Given the description of an element on the screen output the (x, y) to click on. 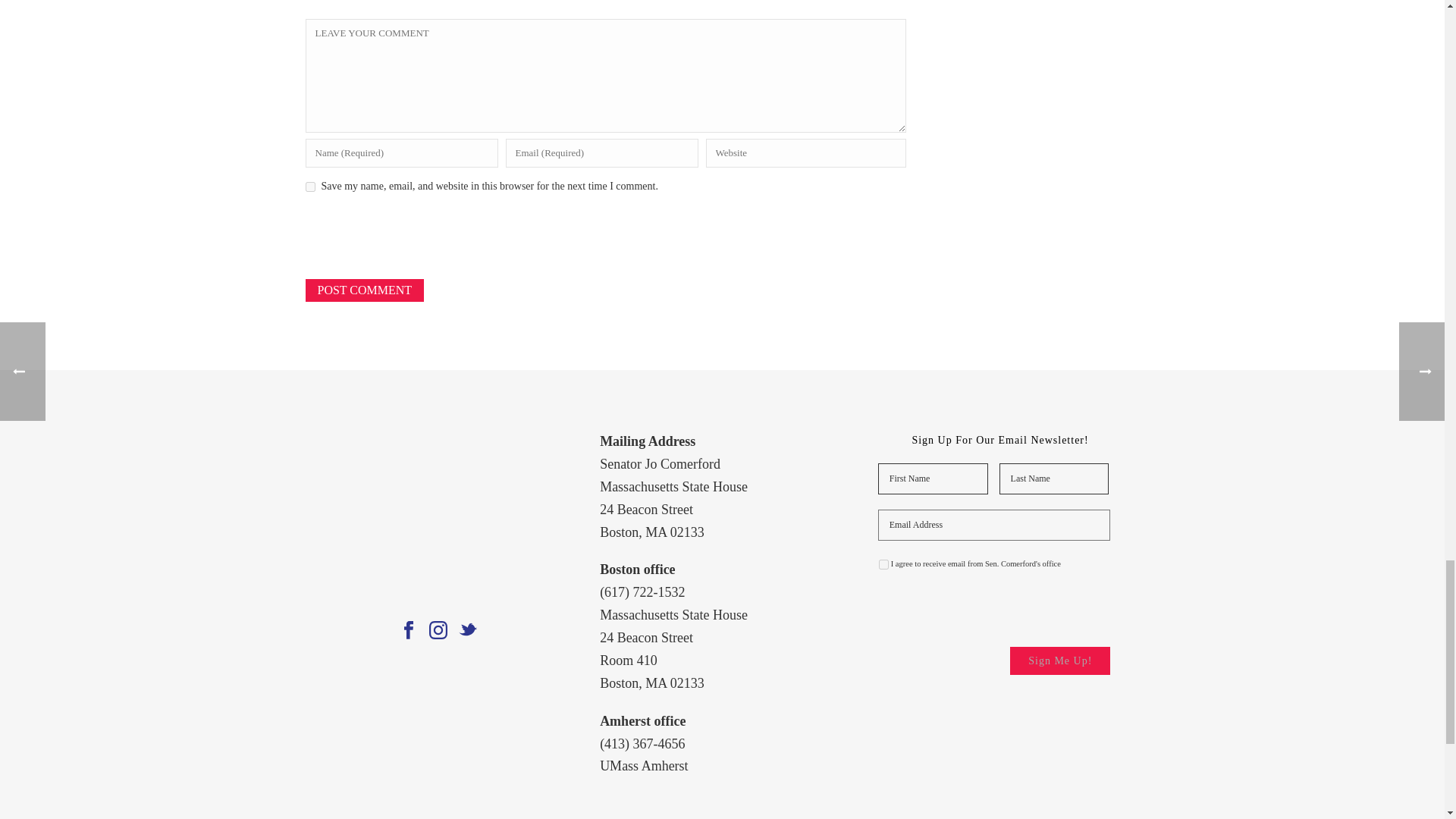
I agree to receive email from Sen. Comerford's office (883, 564)
POST COMMENT (363, 290)
Follow Jo on instagram (437, 630)
yes (309, 186)
Sign Me Up! (1059, 660)
Follow Jo on facebook (407, 630)
Follow Jo on twitter (467, 630)
reCAPTCHA (419, 244)
